Given the description of an element on the screen output the (x, y) to click on. 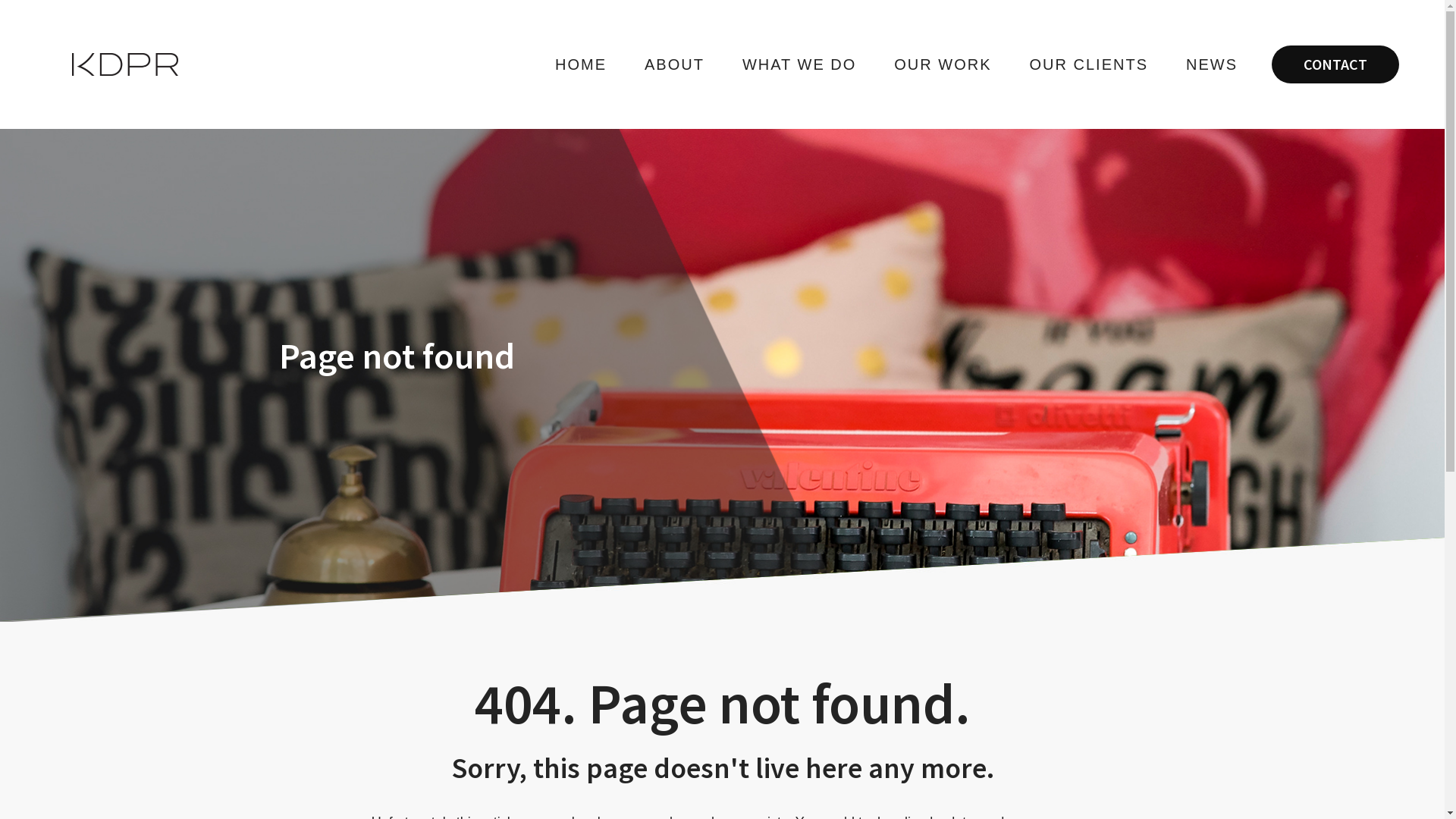
ABOUT Element type: text (674, 64)
OUR CLIENTS Element type: text (1088, 64)
HOME Element type: text (580, 64)
Send Element type: text (244, 536)
CONTACT Element type: text (1335, 64)
OUR WORK Element type: text (942, 64)
WHAT WE DO Element type: text (799, 64)
NEWS Element type: text (1211, 64)
